Given the description of an element on the screen output the (x, y) to click on. 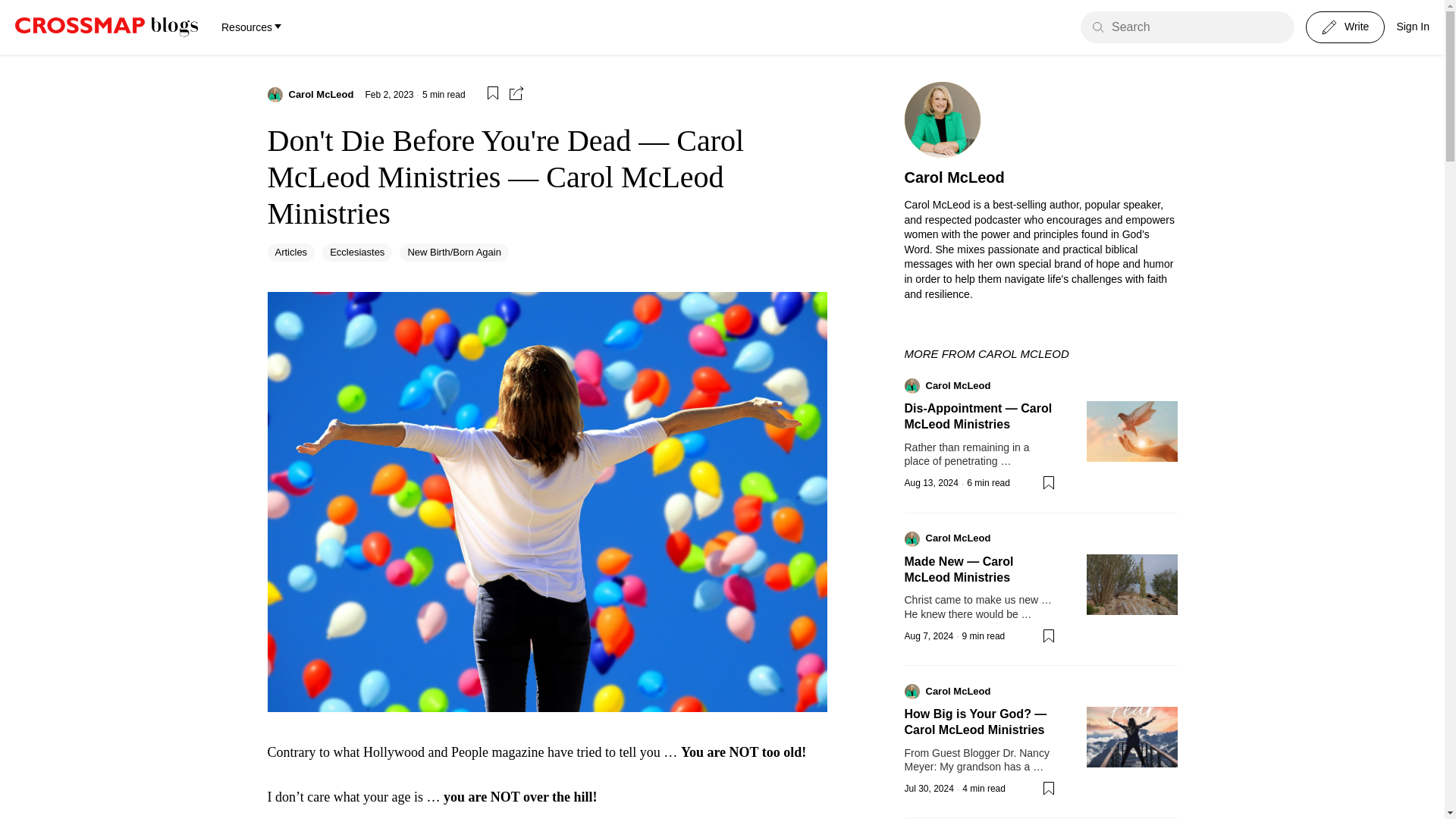
Articles (290, 252)
Carol McLeod (320, 94)
Write (1345, 27)
Sign In (1412, 27)
Resources (251, 27)
Ecclesiastes (356, 252)
